Given the description of an element on the screen output the (x, y) to click on. 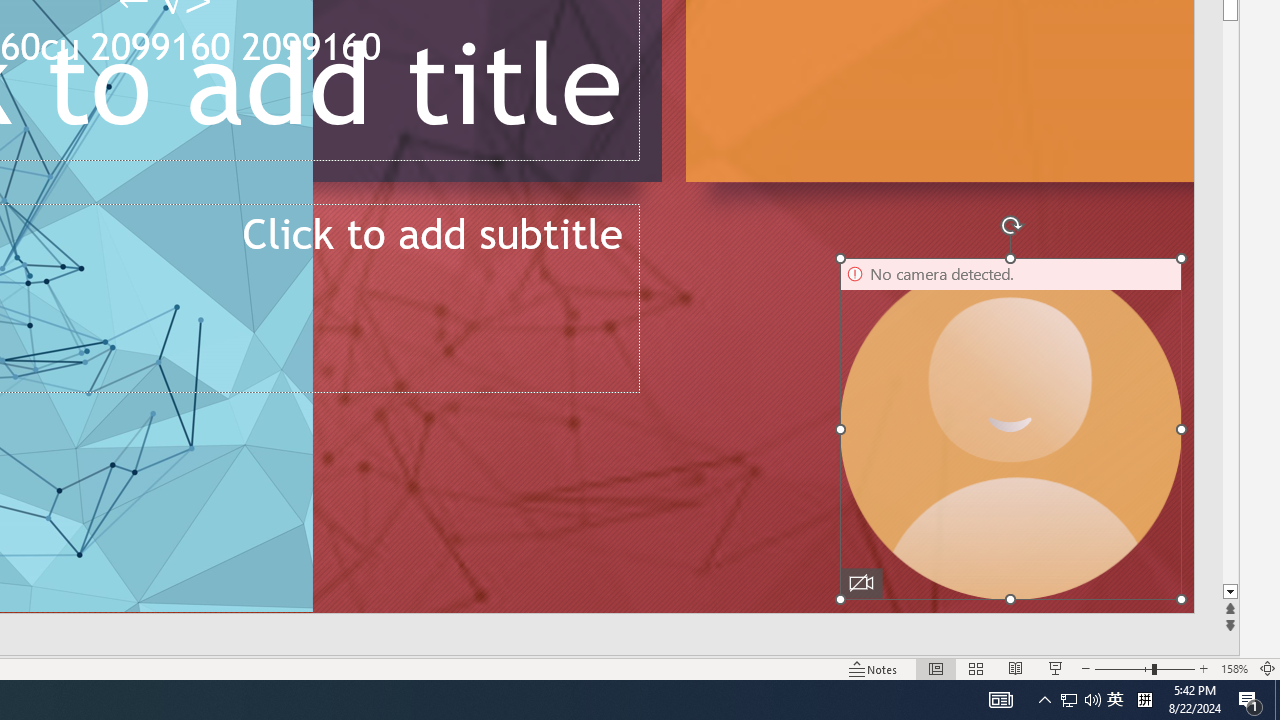
Zoom 158% (1234, 668)
Camera 16, No camera detected. (1010, 429)
